Given the description of an element on the screen output the (x, y) to click on. 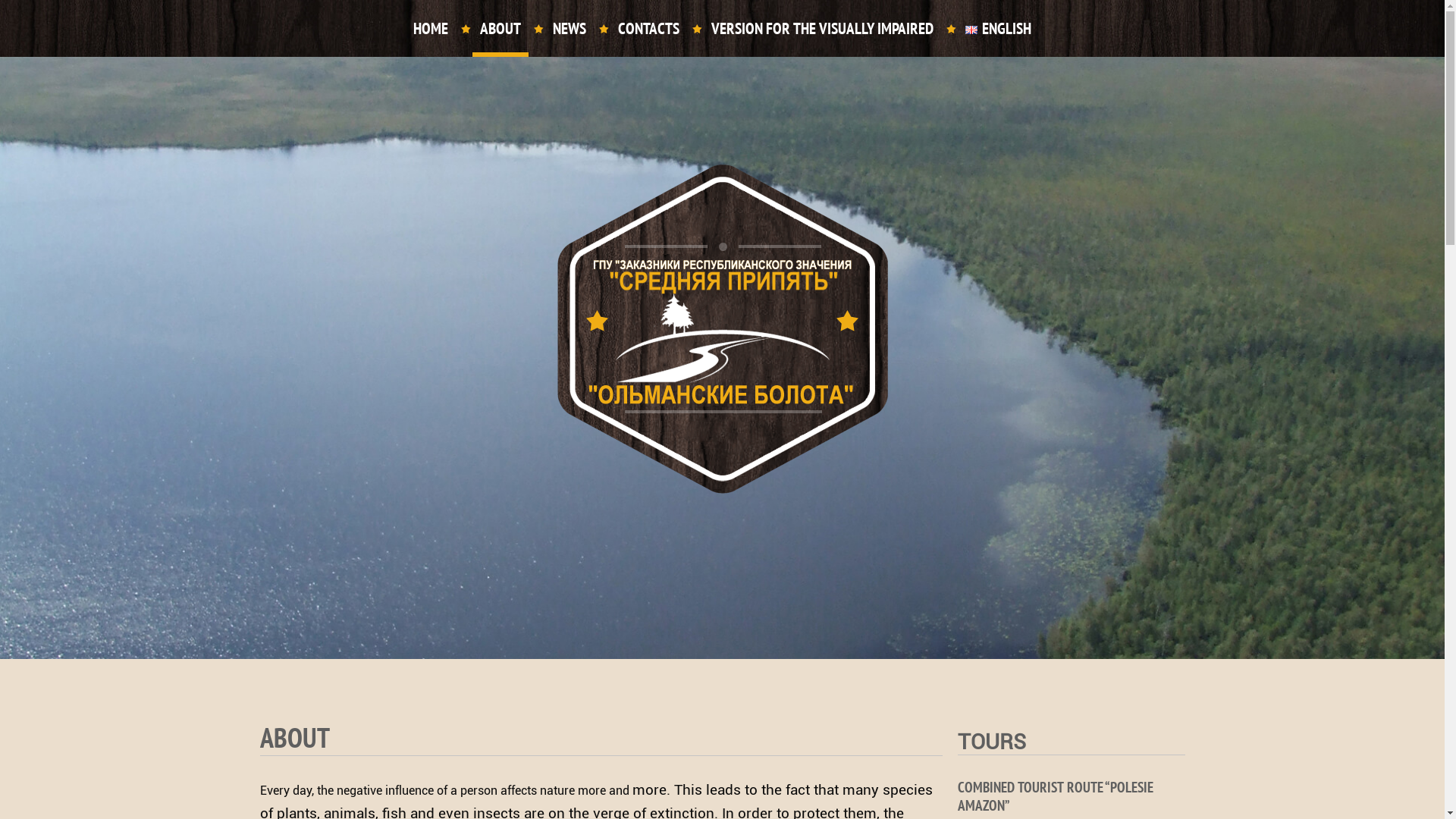
English Element type: hover (971, 29)
VERSION FOR THE VISUALLY IMPAIRED Element type: text (822, 28)
ENGLISH Element type: text (998, 28)
HOME Element type: text (430, 28)
CONTACTS Element type: text (648, 28)
NEWS Element type: text (569, 28)
ABOUT Element type: text (500, 28)
